Given the description of an element on the screen output the (x, y) to click on. 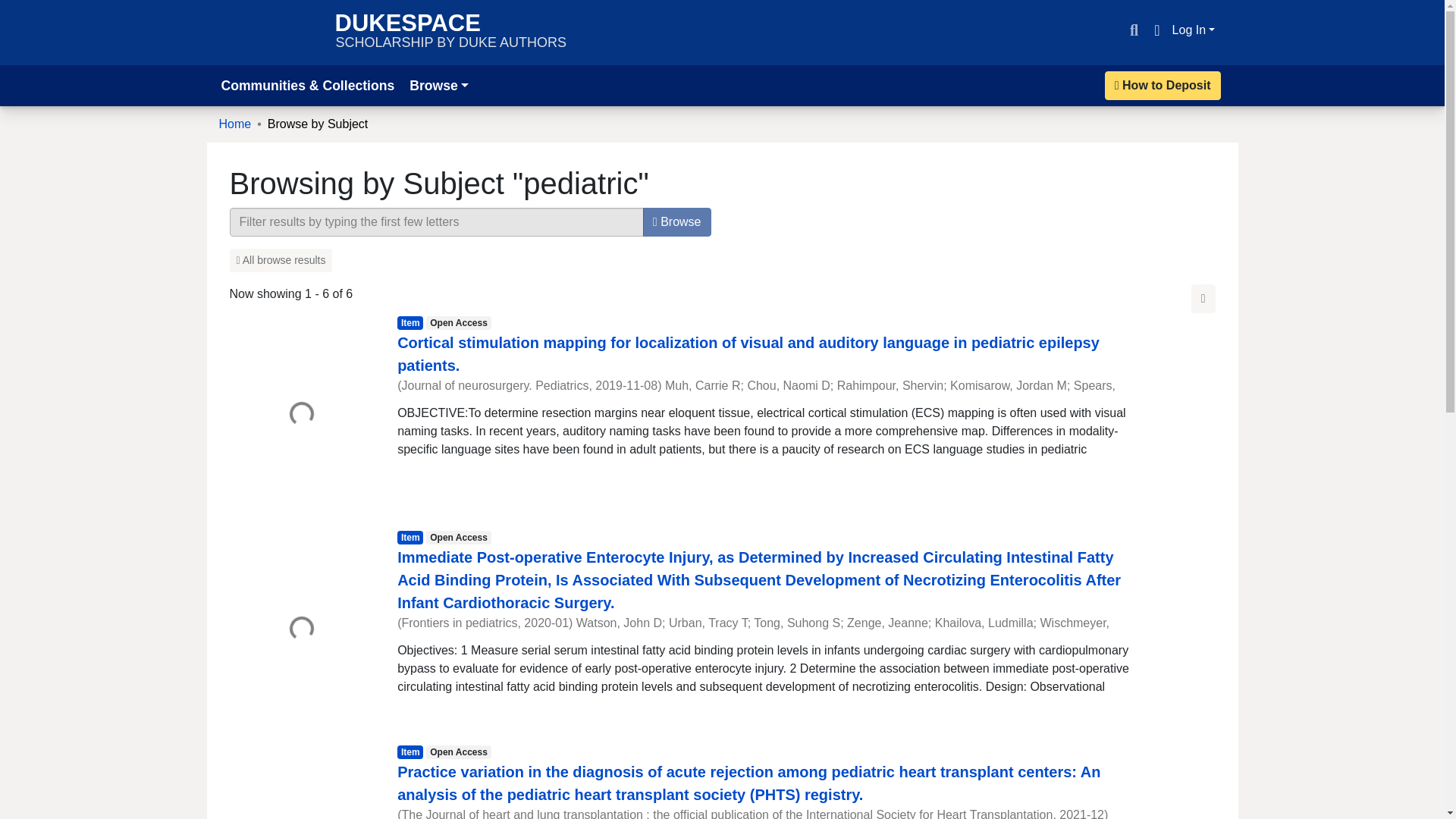
Search (1133, 30)
How to Deposit (1163, 85)
Skip to Main Content (18, 9)
Browse (438, 85)
Browse (677, 222)
Language switch (1156, 30)
Home (234, 124)
All browse results (450, 32)
Duke University Libraries (279, 259)
Log In (269, 32)
